Given the description of an element on the screen output the (x, y) to click on. 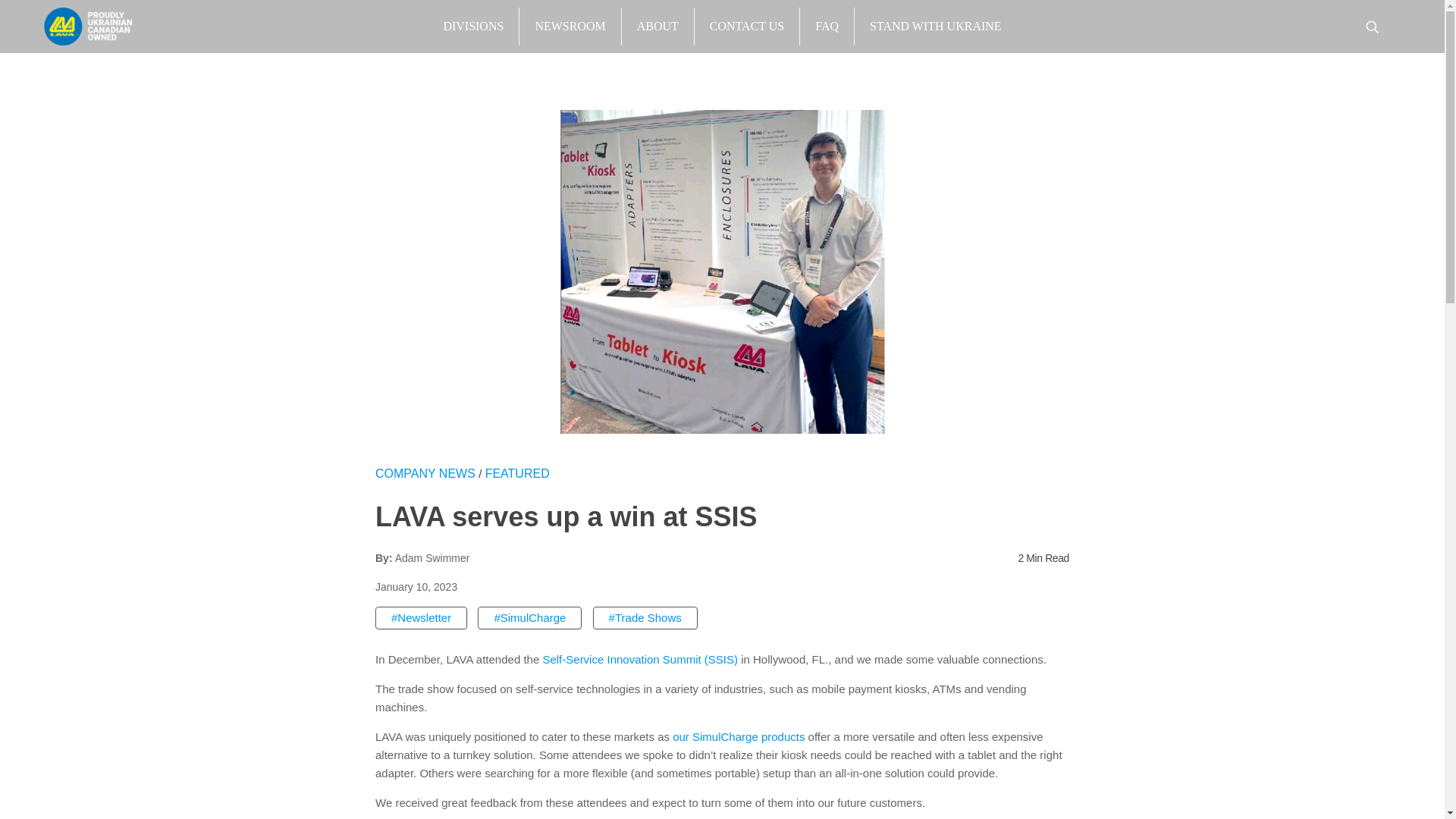
CONTACT US (746, 26)
NEWSROOM (569, 26)
STAND WITH UKRAINE (934, 26)
FAQ (826, 26)
